Given the description of an element on the screen output the (x, y) to click on. 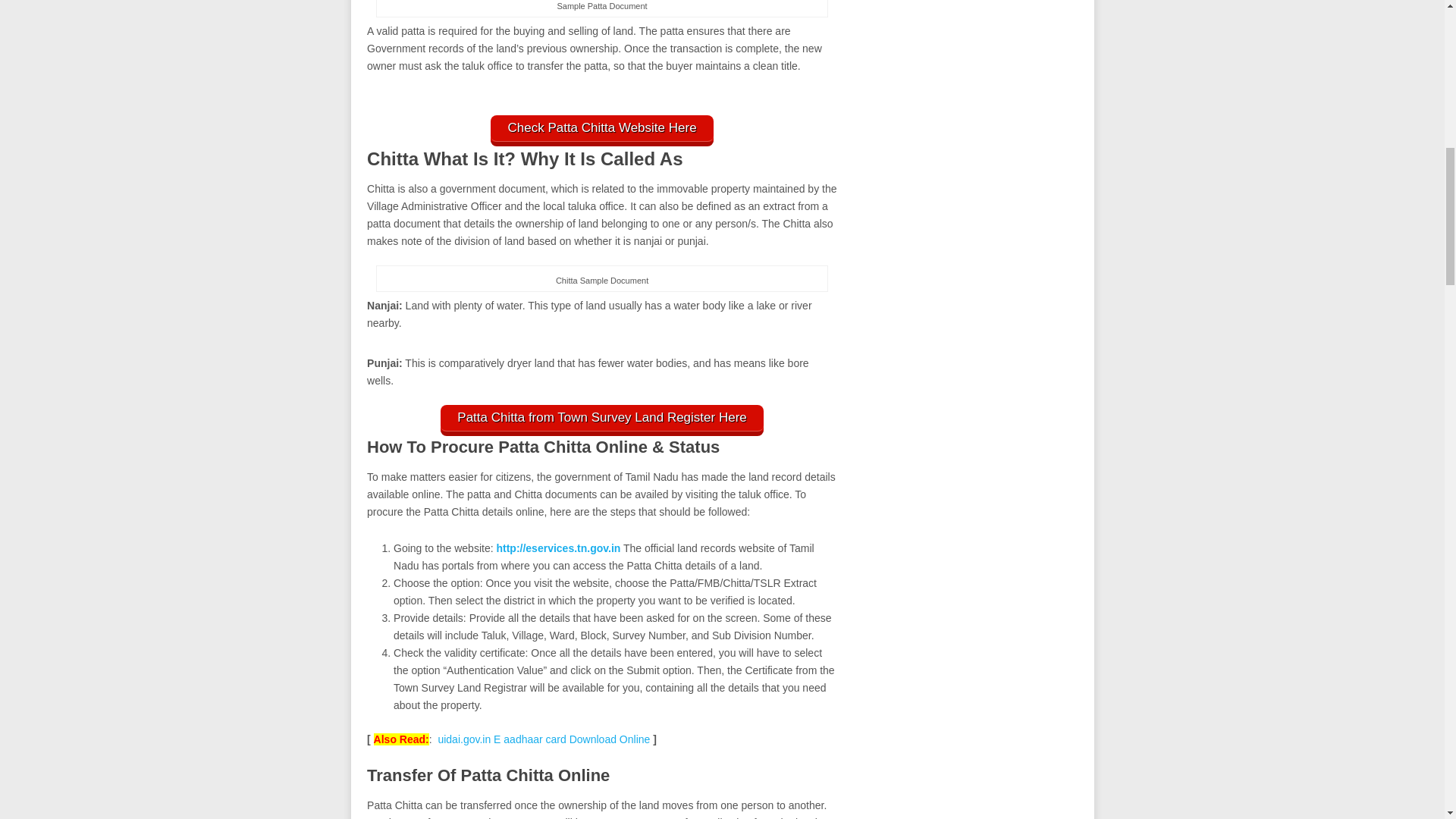
Check Patta Chitta Website Here (601, 130)
Patta Chitta from Town Survey Land Register Here (601, 419)
uidai.gov.in E aadhaar card Download Online (543, 739)
